Given the description of an element on the screen output the (x, y) to click on. 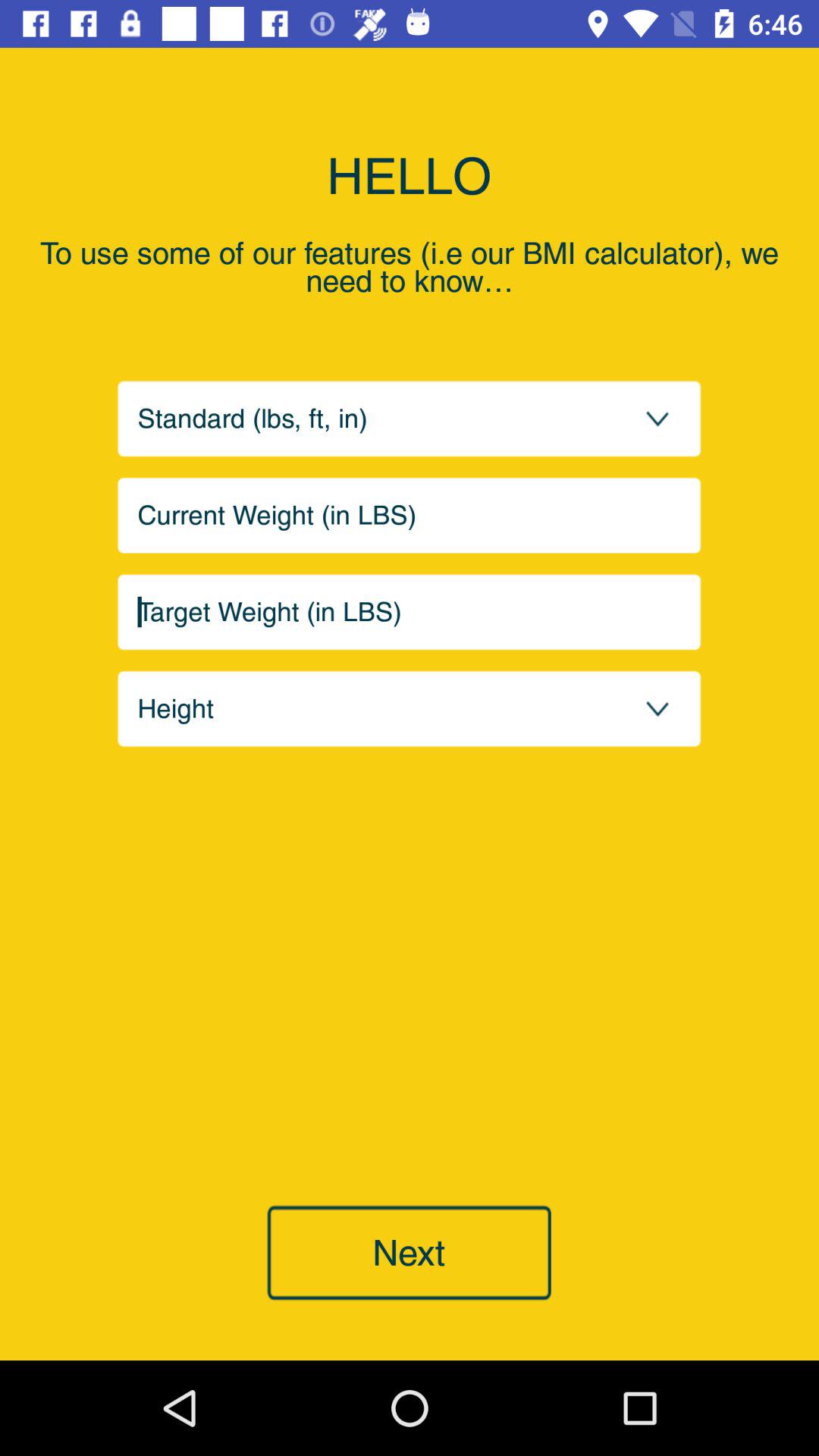
enter height (409, 708)
